Given the description of an element on the screen output the (x, y) to click on. 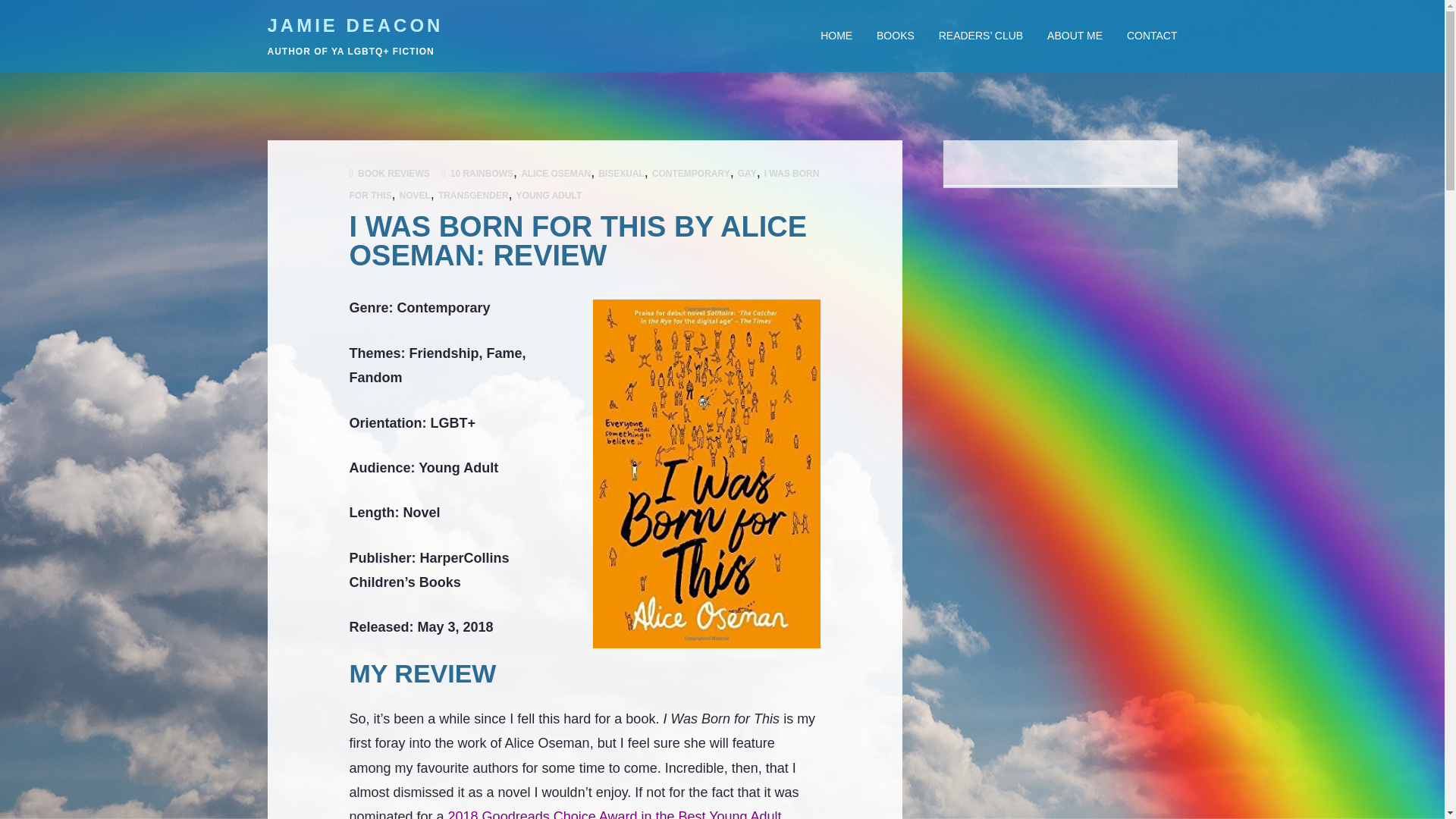
BISEXUAL (621, 173)
TRANSGENDER (473, 195)
ABOUT ME (1074, 35)
10 RAINBOWS (481, 173)
NOVEL (414, 195)
ALICE OSEMAN (556, 173)
Jamie Deacon (354, 25)
BOOKS (895, 35)
BOOK REVIEWS (393, 173)
JAMIE DEACON (354, 25)
HOME (842, 35)
CONTEMPORARY (691, 173)
YOUNG ADULT (549, 195)
I WAS BORN FOR THIS (583, 184)
